Given the description of an element on the screen output the (x, y) to click on. 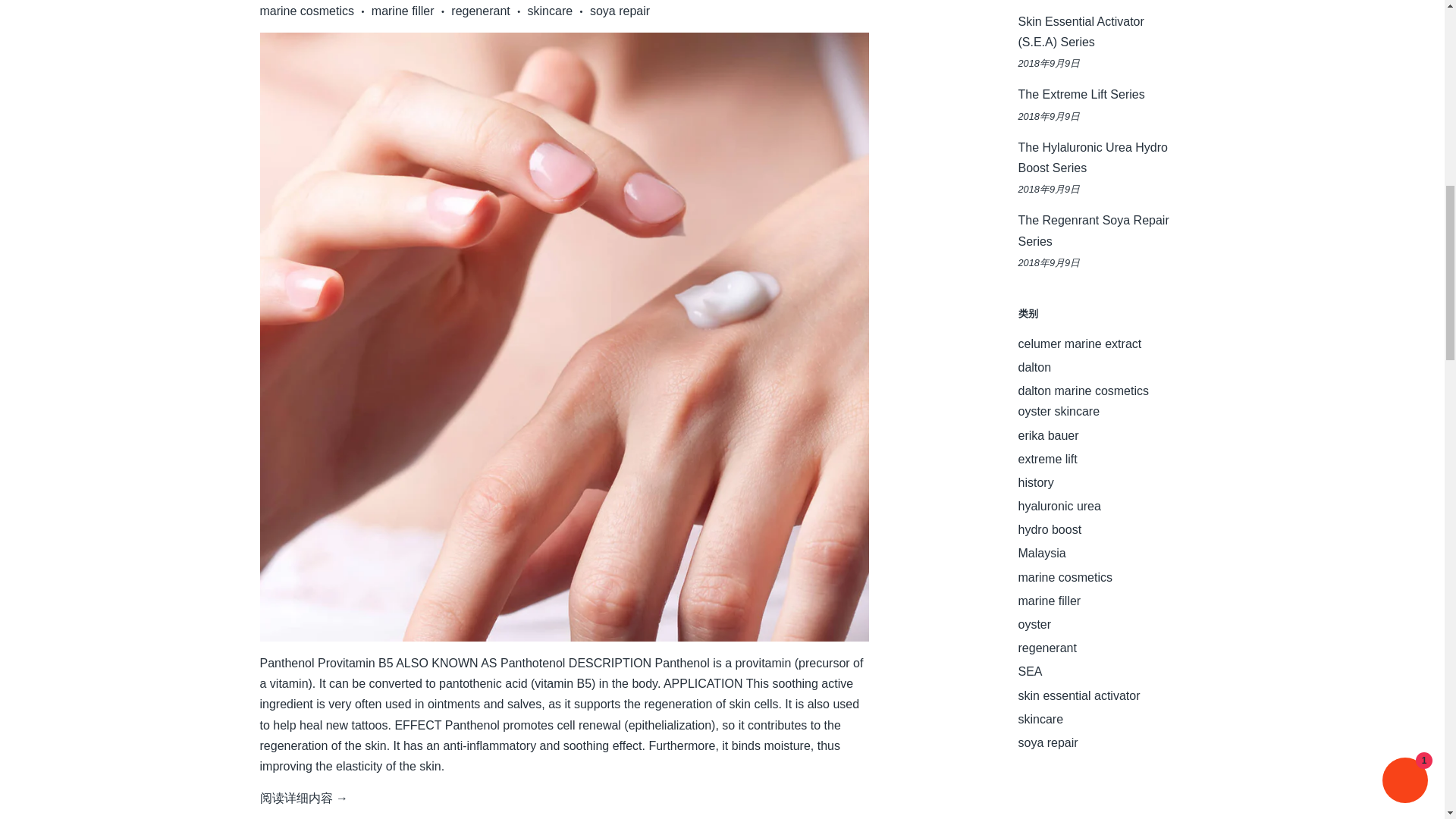
Show articles tagged celumer marine extract (1079, 343)
Show articles tagged Malaysia (1041, 553)
Show articles tagged dalton (1034, 367)
Show articles tagged marine filler (1048, 600)
Show articles tagged erika bauer (1047, 435)
Show articles tagged hydro boost (1049, 529)
Show articles tagged history (1034, 481)
Show articles tagged marine cosmetics (1064, 576)
Show articles tagged oyster (1034, 624)
Show articles tagged hyaluronic urea (1058, 505)
Show articles tagged extreme lift (1047, 459)
